Given the description of an element on the screen output the (x, y) to click on. 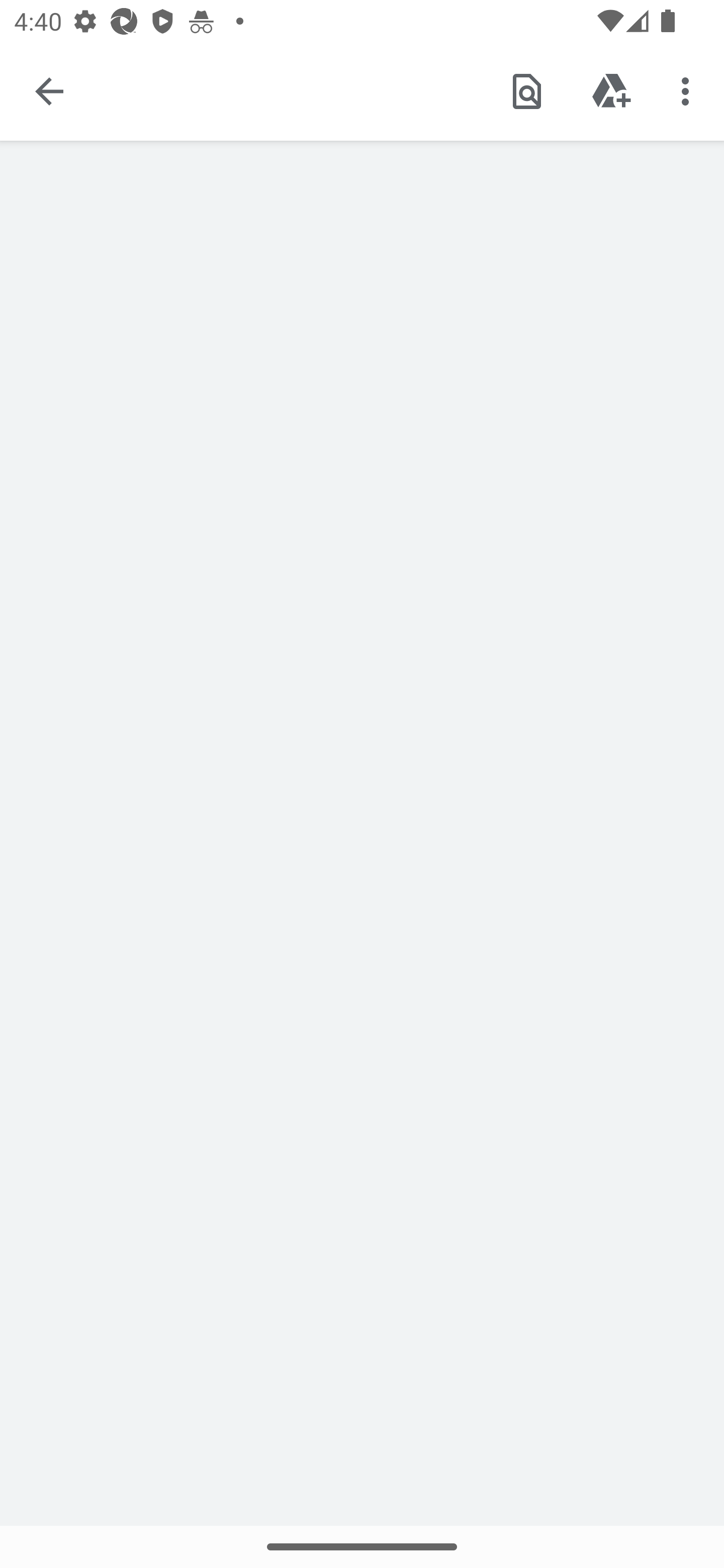
Find (526, 90)
Add to Drive (611, 90)
More options (688, 90)
